Given the description of an element on the screen output the (x, y) to click on. 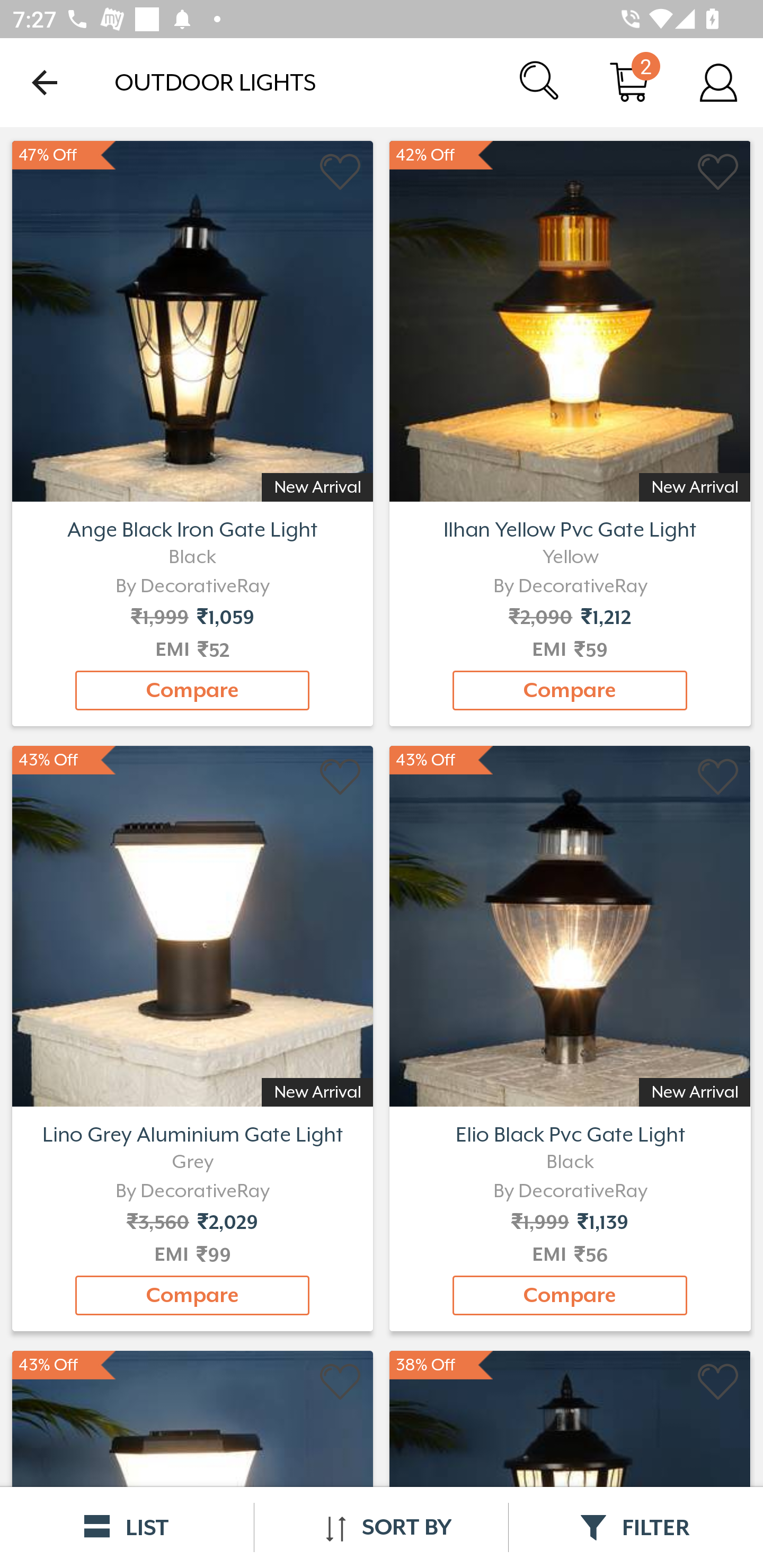
Navigate up (44, 82)
Search (540, 81)
Cart (629, 81)
Account Details (718, 81)
1574+ options Floor Lamps Starting from  ₹1,247 (191, 318)
2354+ options Table Lamps Starting from  ₹630 (570, 318)
 (341, 172)
 (718, 172)
Compare (192, 690)
Compare (569, 690)
 (341, 777)
 (718, 777)
Compare (192, 1295)
Compare (569, 1295)
 (341, 1382)
 (718, 1382)
 LIST (127, 1527)
SORT BY (381, 1527)
 FILTER (635, 1527)
